Given the description of an element on the screen output the (x, y) to click on. 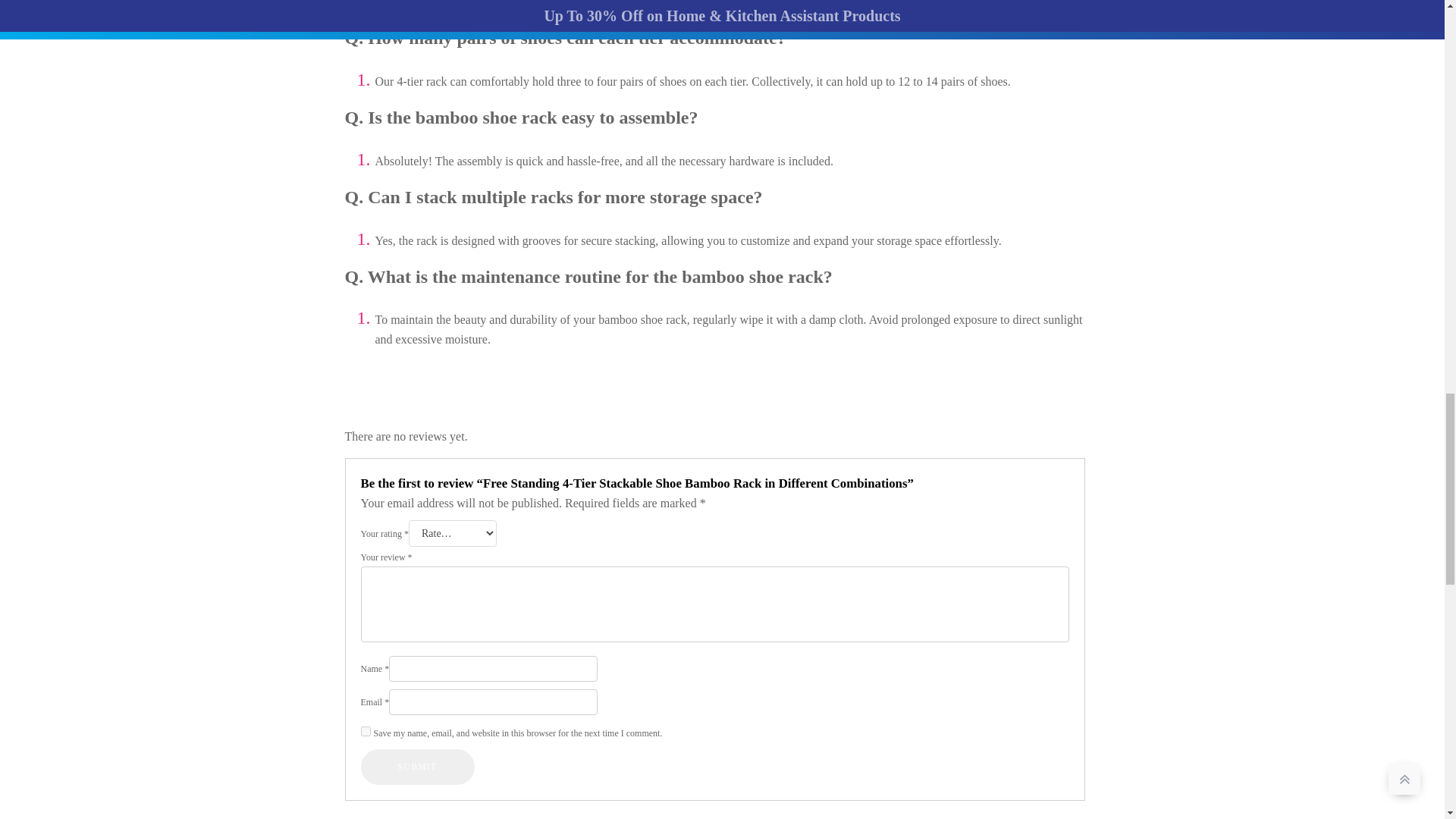
Submit (417, 766)
yes (366, 731)
